Given the description of an element on the screen output the (x, y) to click on. 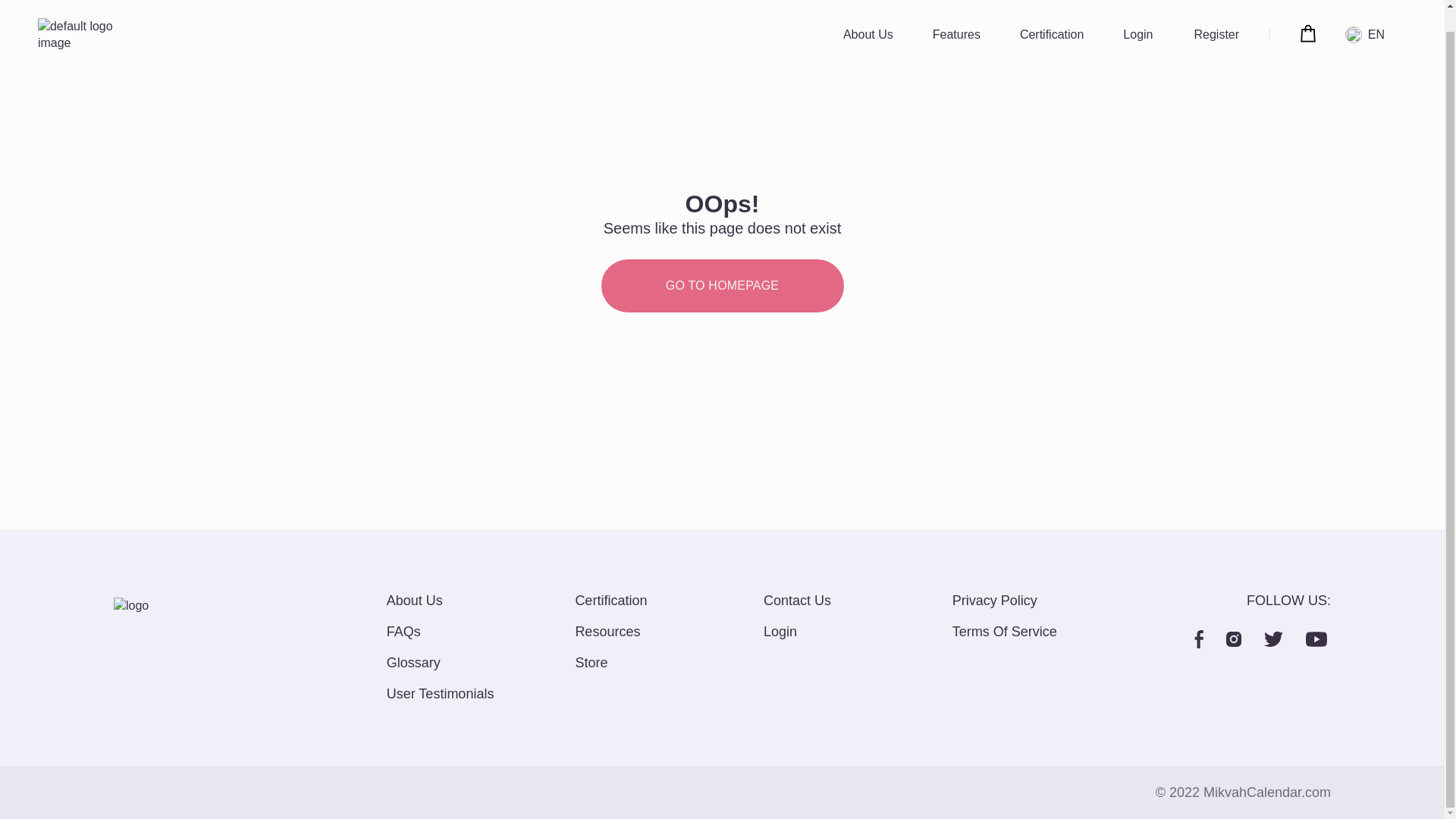
Certification (1051, 13)
Mikvah calendar (162, 605)
Register (1216, 13)
Login (1137, 13)
Mikvah calendar (86, 15)
EN (1368, 18)
About Us (868, 13)
Features (956, 13)
